Given the description of an element on the screen output the (x, y) to click on. 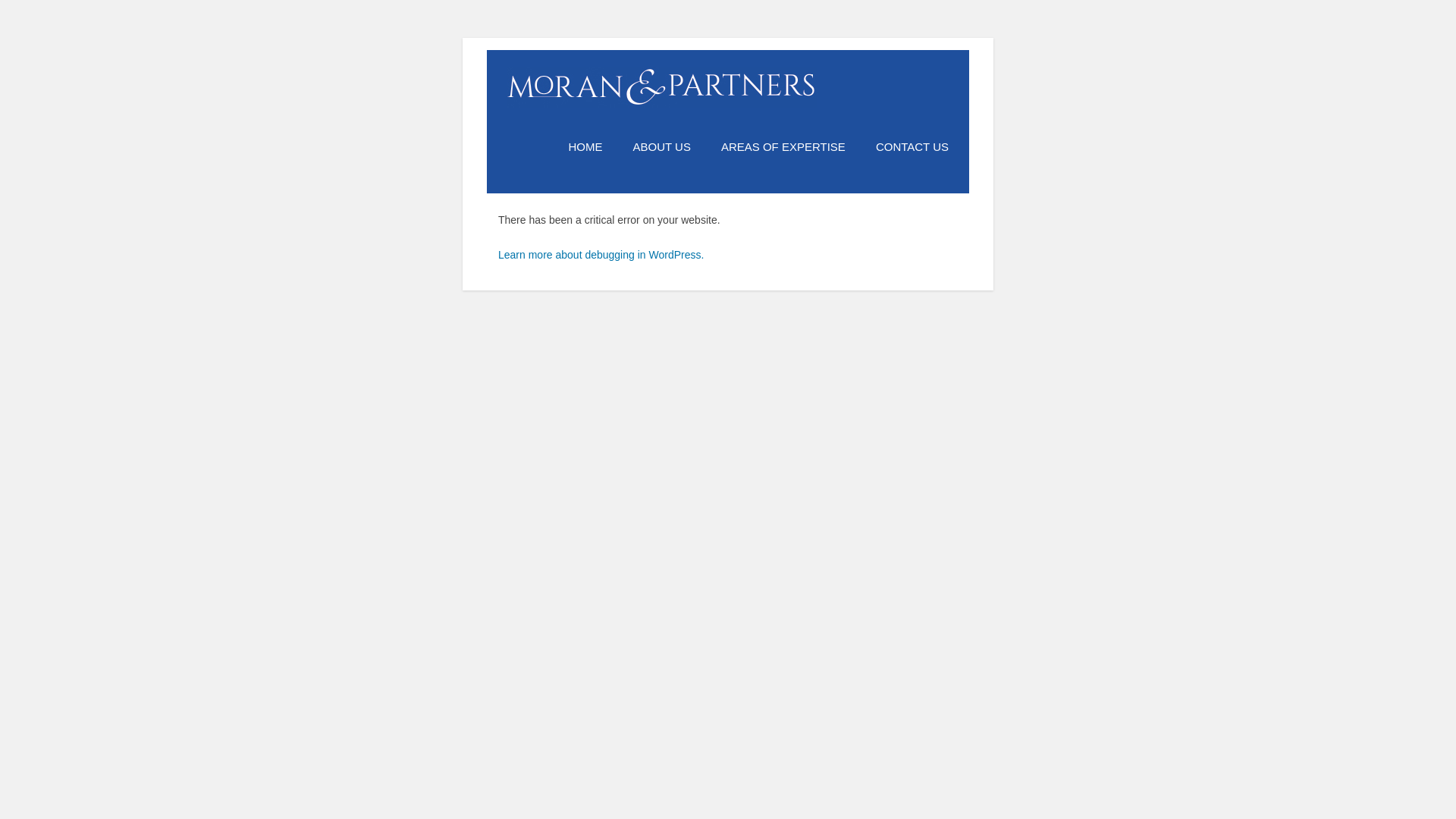
CONTACT US Element type: text (904, 146)
HOME Element type: text (593, 146)
Learn more about debugging in WordPress. Element type: text (600, 254)
ABOUT US Element type: text (662, 146)
AREAS OF EXPERTISE Element type: text (783, 146)
